Given the description of an element on the screen output the (x, y) to click on. 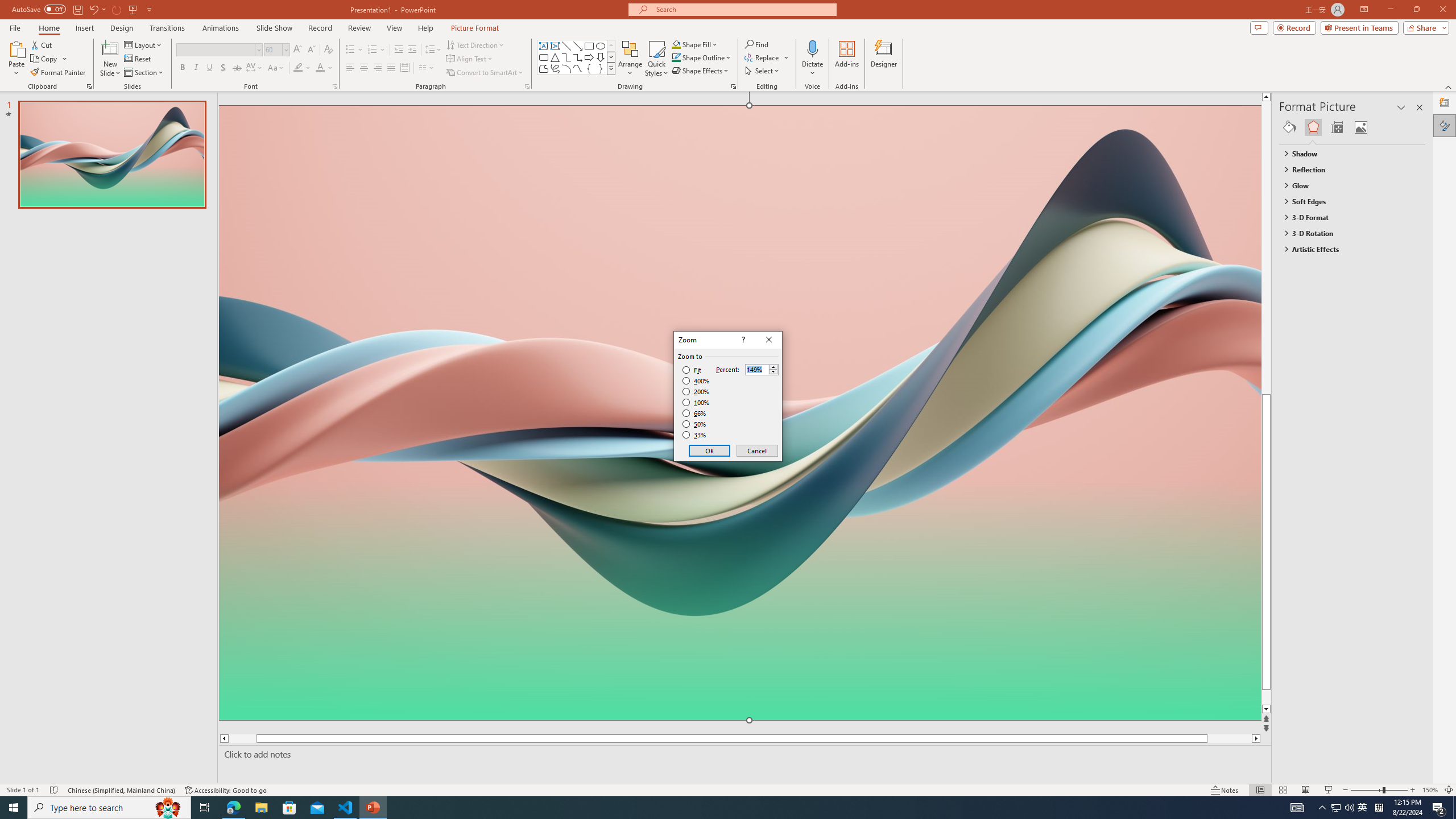
Class: NetUIGalleryContainer (1352, 126)
Zoom 150% (1430, 790)
